Given the description of an element on the screen output the (x, y) to click on. 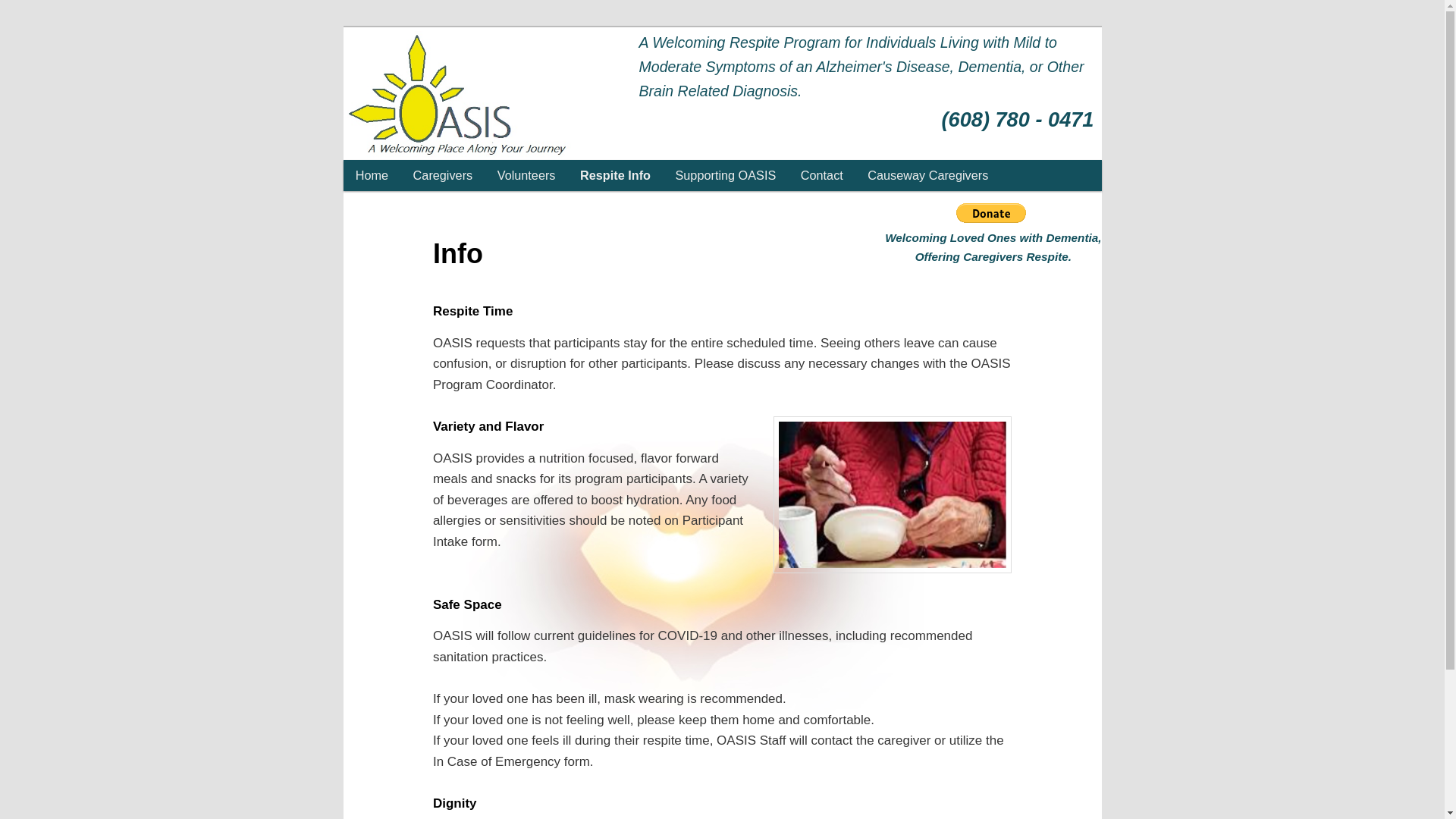
Caregivers (442, 174)
Supporting OASIS (724, 174)
Causeway Caregivers (928, 174)
Volunteers (525, 174)
Home (371, 174)
Respite Info (615, 174)
Contact (822, 174)
